Given the description of an element on the screen output the (x, y) to click on. 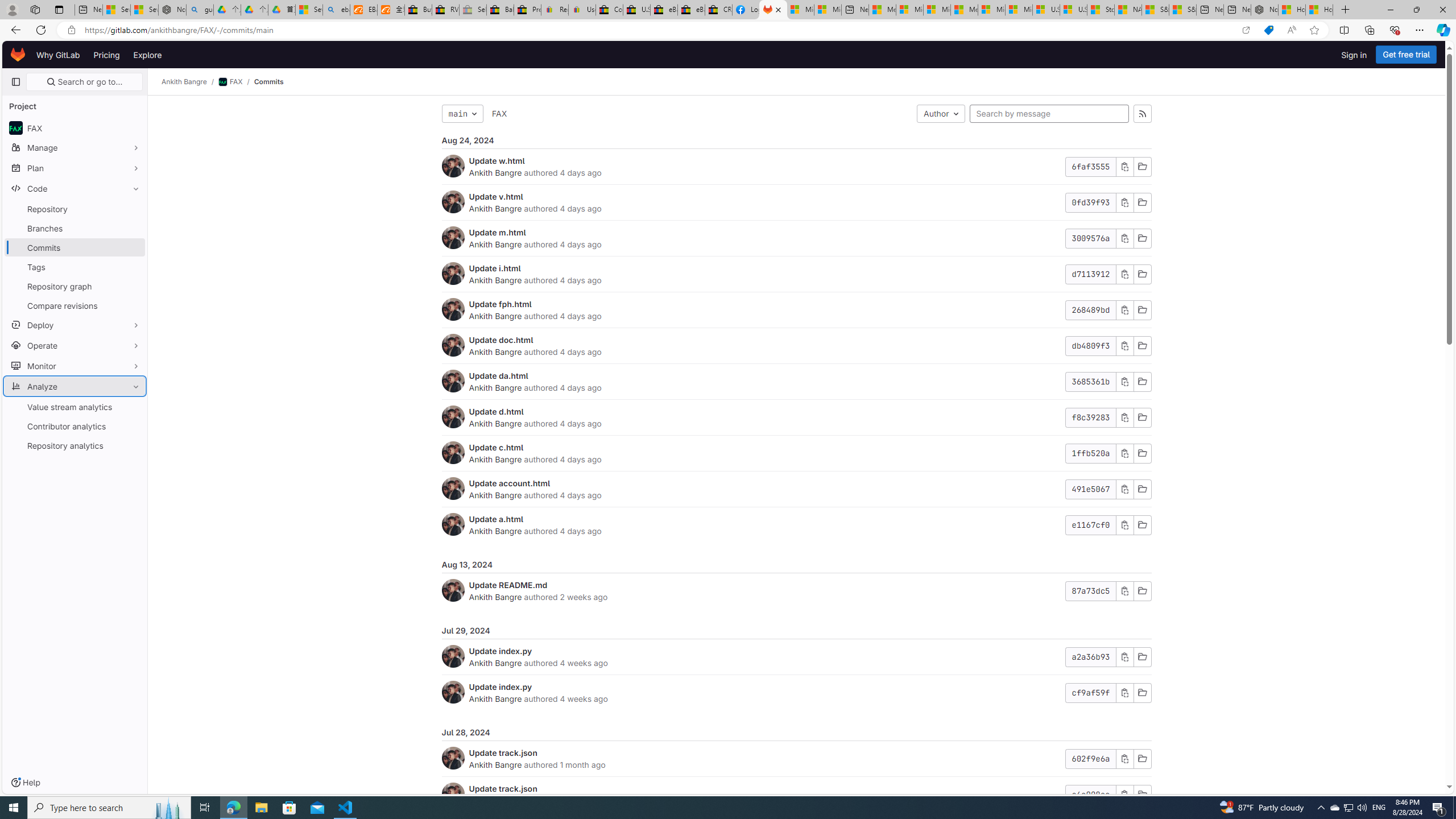
Copy commit SHA (1124, 794)
Update d.htmlAnkith Bangre authored 4 days agof8c39283 (796, 417)
Value stream analytics (74, 406)
eBay Inc. Reports Third Quarter 2023 Results (691, 9)
User Privacy Notice | eBay (581, 9)
Consumer Health Data Privacy Policy - eBay Inc. (609, 9)
Repository graph (74, 285)
Primary navigation sidebar (15, 81)
Monitor (74, 365)
Why GitLab (58, 54)
